Given the description of an element on the screen output the (x, y) to click on. 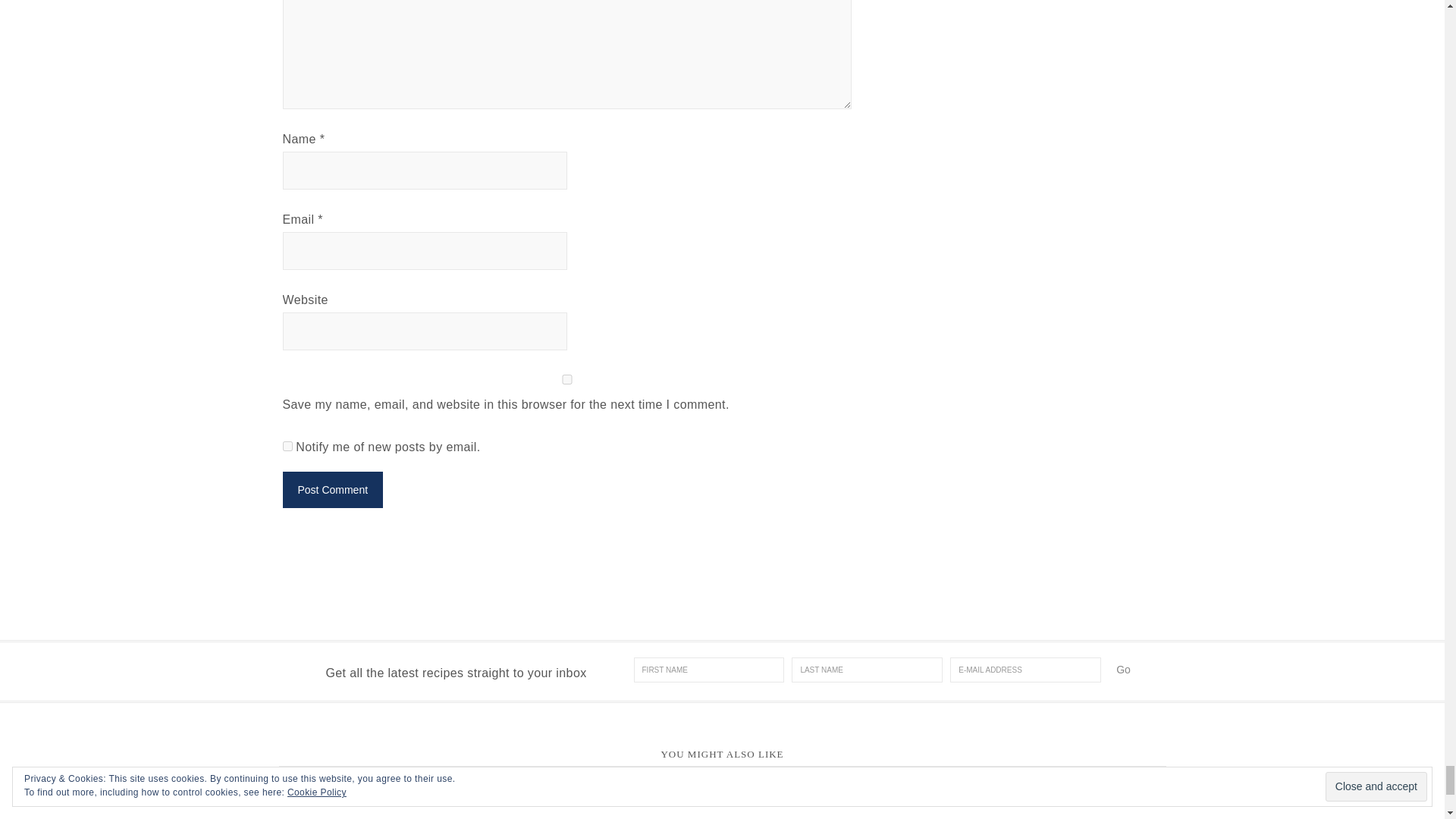
yes (566, 379)
subscribe (287, 446)
Go (1123, 669)
Post Comment (332, 489)
